Given the description of an element on the screen output the (x, y) to click on. 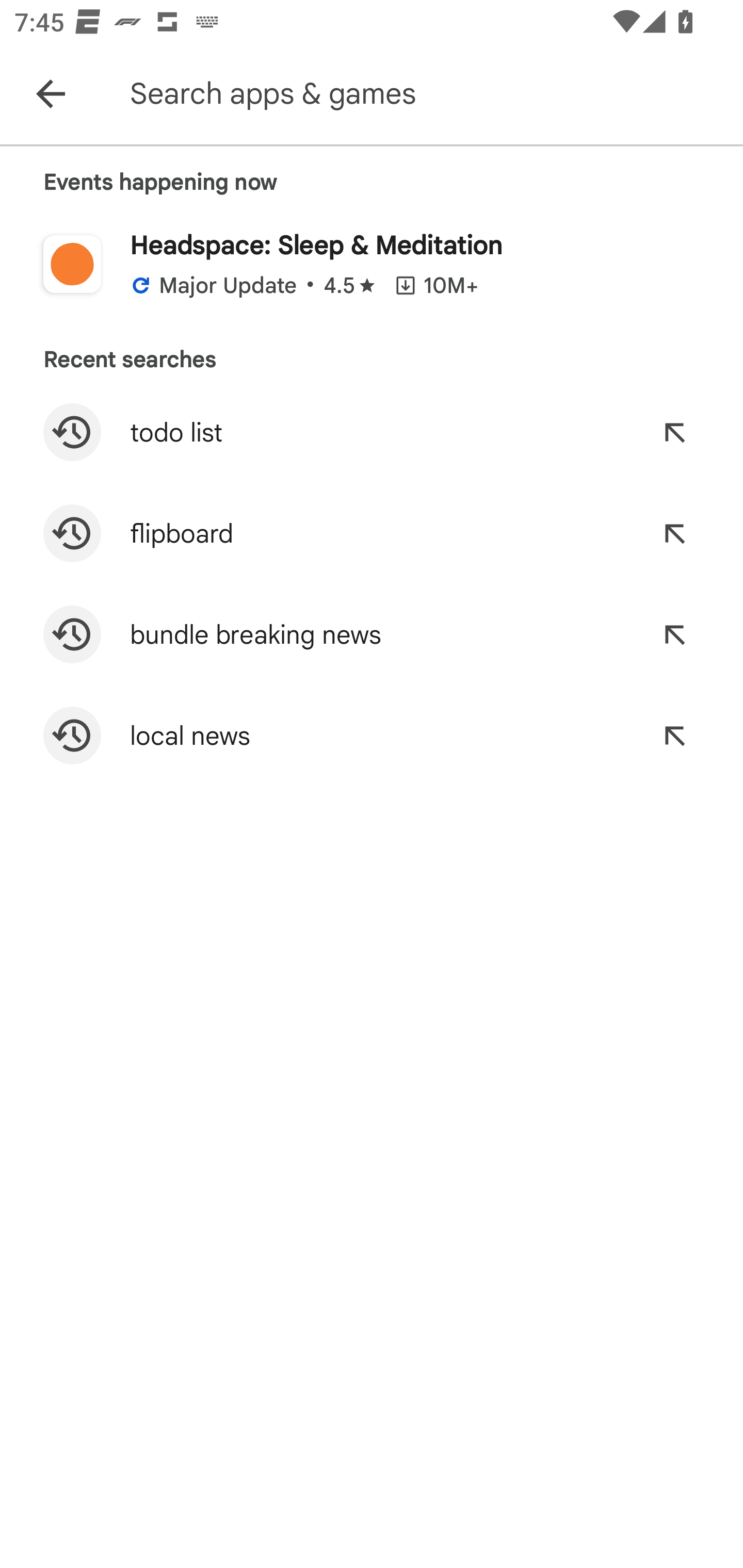
Navigate up (50, 93)
Search apps & games (432, 93)
Refine search to "todo list" (673, 431)
Refine search to "flipboard" (673, 532)
Refine search to "bundle breaking news" (673, 634)
Refine search to "local news" (673, 735)
